Given the description of an element on the screen output the (x, y) to click on. 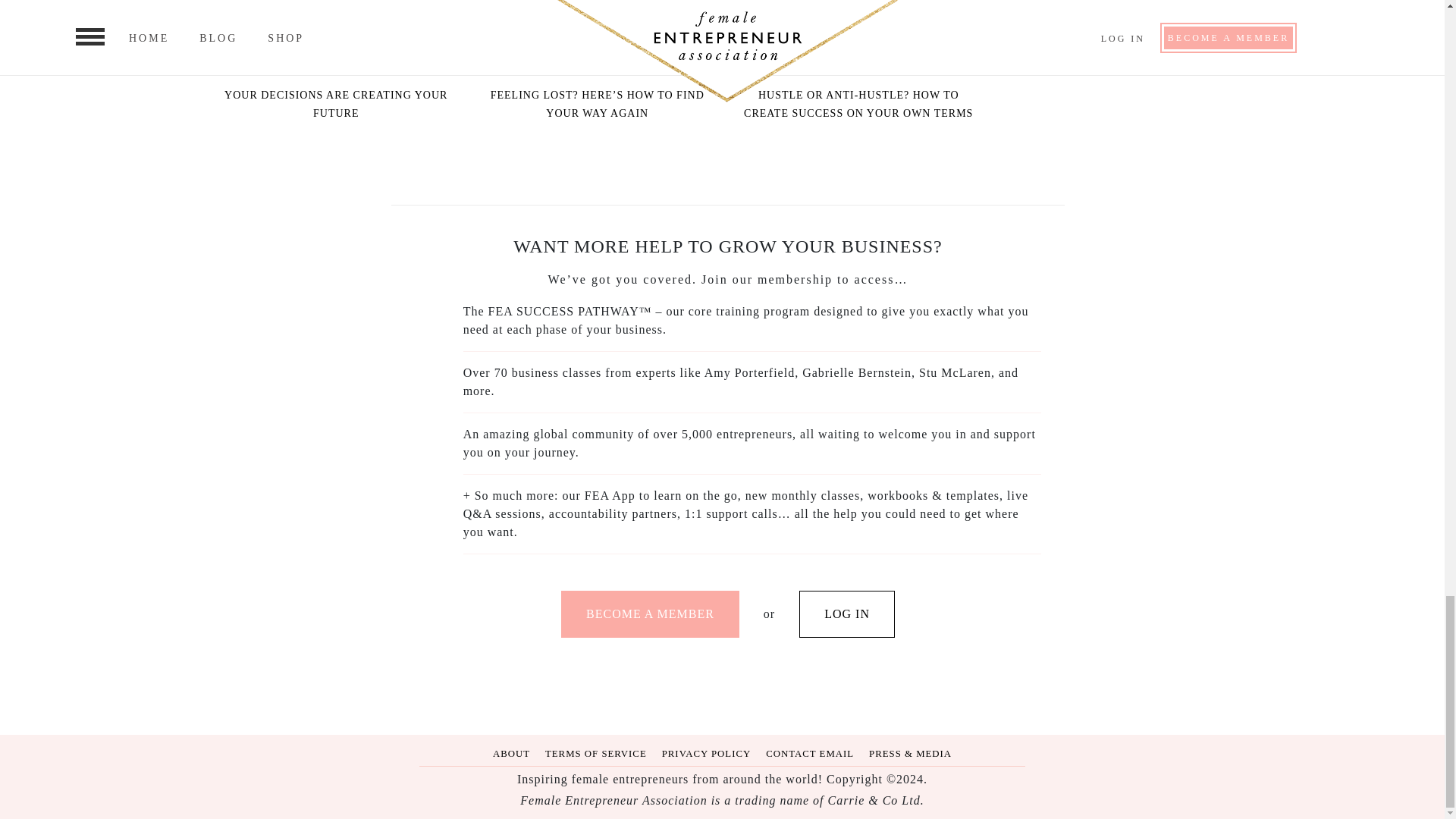
Your Decisions Are Creating Your Future (336, 37)
